Given the description of an element on the screen output the (x, y) to click on. 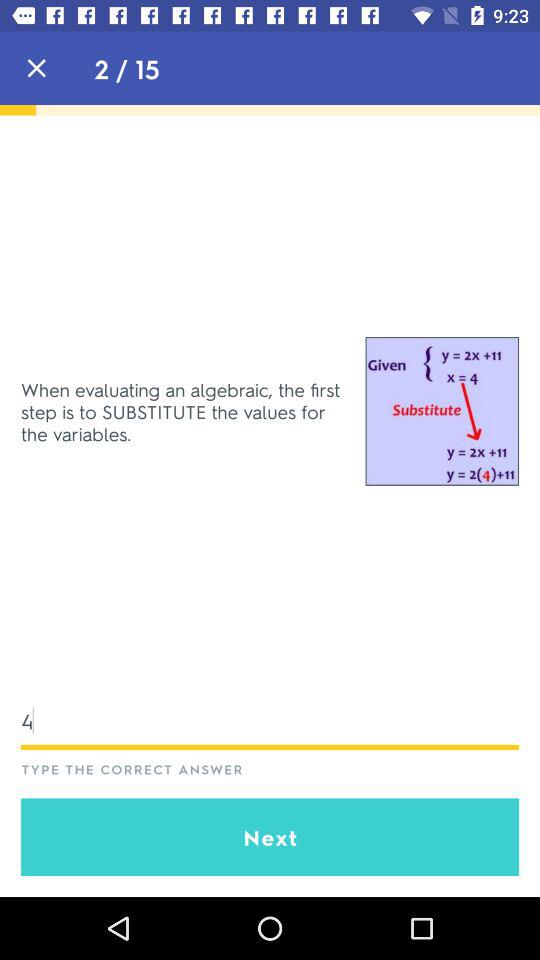
turn on next item (270, 837)
